Given the description of an element on the screen output the (x, y) to click on. 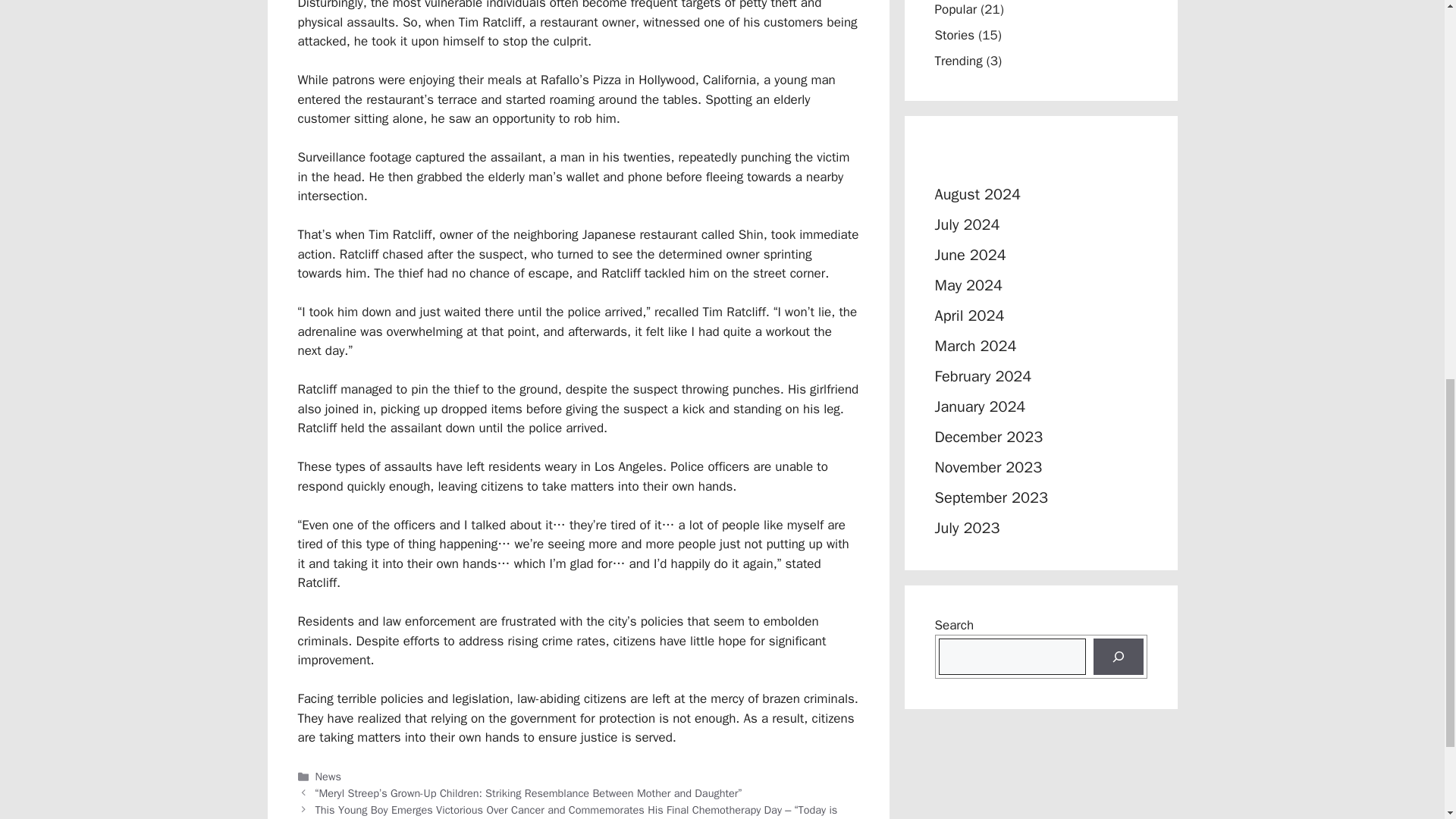
July 2023 (966, 527)
February 2024 (982, 375)
April 2024 (969, 315)
May 2024 (968, 285)
September 2023 (990, 497)
Scroll back to top (1406, 720)
July 2024 (966, 224)
June 2024 (970, 254)
Popular (955, 9)
Trending (957, 60)
